Given the description of an element on the screen output the (x, y) to click on. 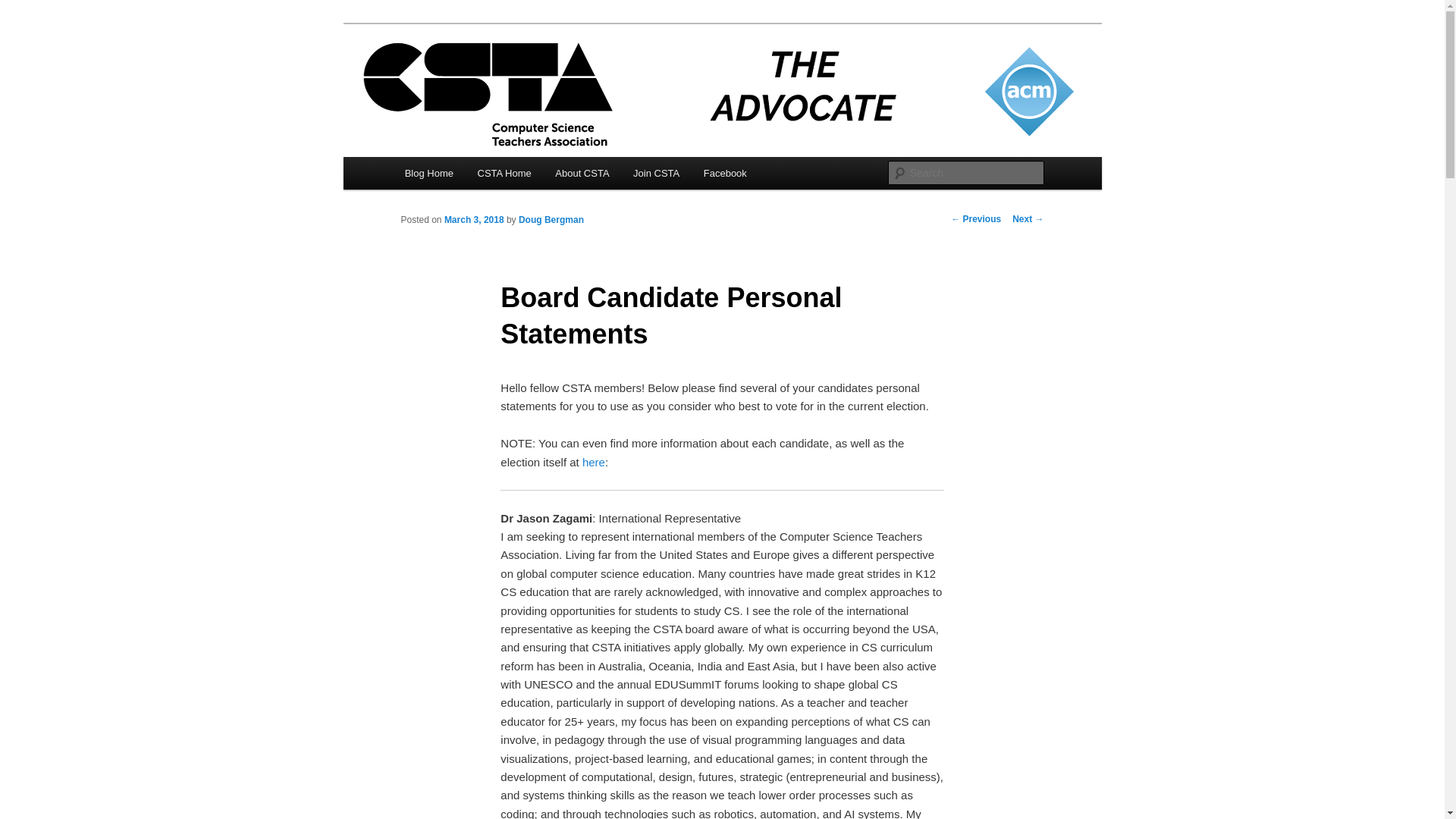
Facebook (724, 173)
4:40 am (473, 219)
View all posts by Doug Bergman (550, 219)
Join CSTA (656, 173)
here (593, 461)
About CSTA (582, 173)
Blog Home (429, 173)
CSTA Home (504, 173)
March 3, 2018 (473, 219)
Search (24, 8)
